Given the description of an element on the screen output the (x, y) to click on. 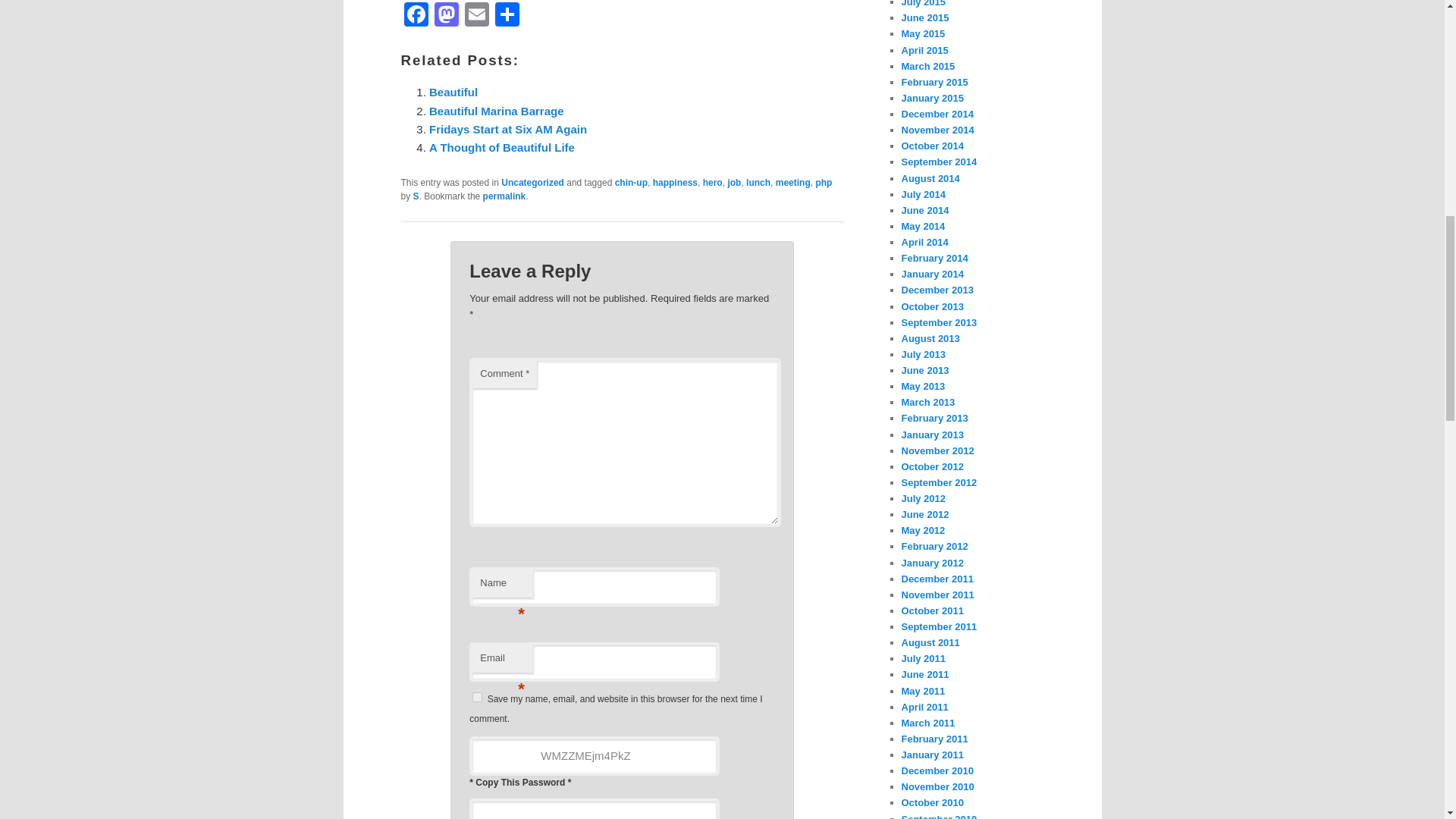
Beautiful Marina Barrage (496, 110)
Mastodon (445, 16)
Facebook (415, 16)
Mastodon (445, 16)
Email (476, 16)
Email (476, 16)
Facebook (415, 16)
Beautiful (453, 91)
Beautiful (453, 91)
Share (506, 16)
Fridays Start at Six AM Again (507, 128)
yes (476, 696)
WMZZMEjm4PkZ (593, 755)
A Thought of Beautiful Life (502, 146)
Permalink to Beautiful Start of the Day (504, 195)
